Given the description of an element on the screen output the (x, y) to click on. 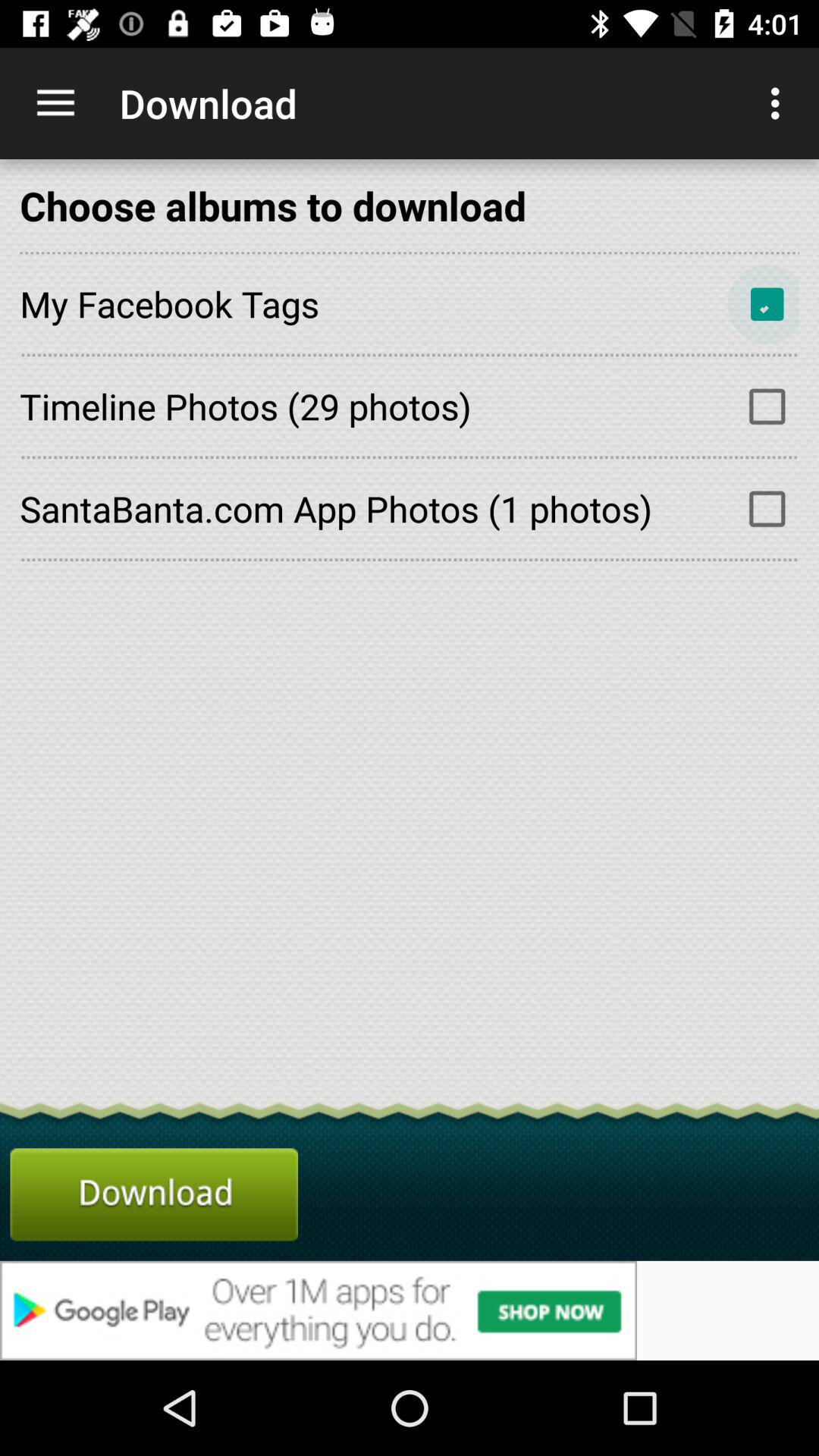
download the albums (154, 1194)
